Given the description of an element on the screen output the (x, y) to click on. 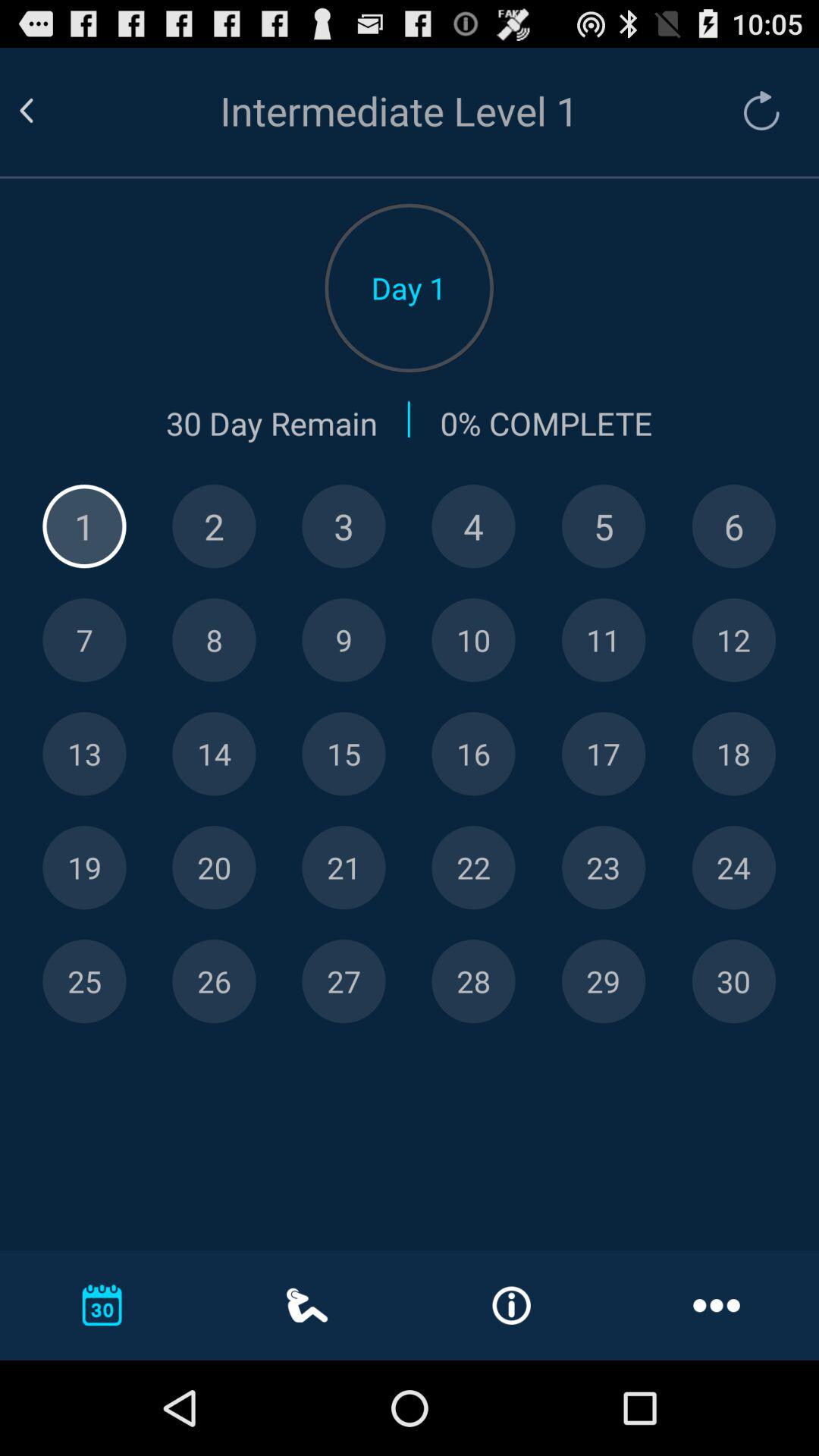
choose day 24 (733, 867)
